Given the description of an element on the screen output the (x, y) to click on. 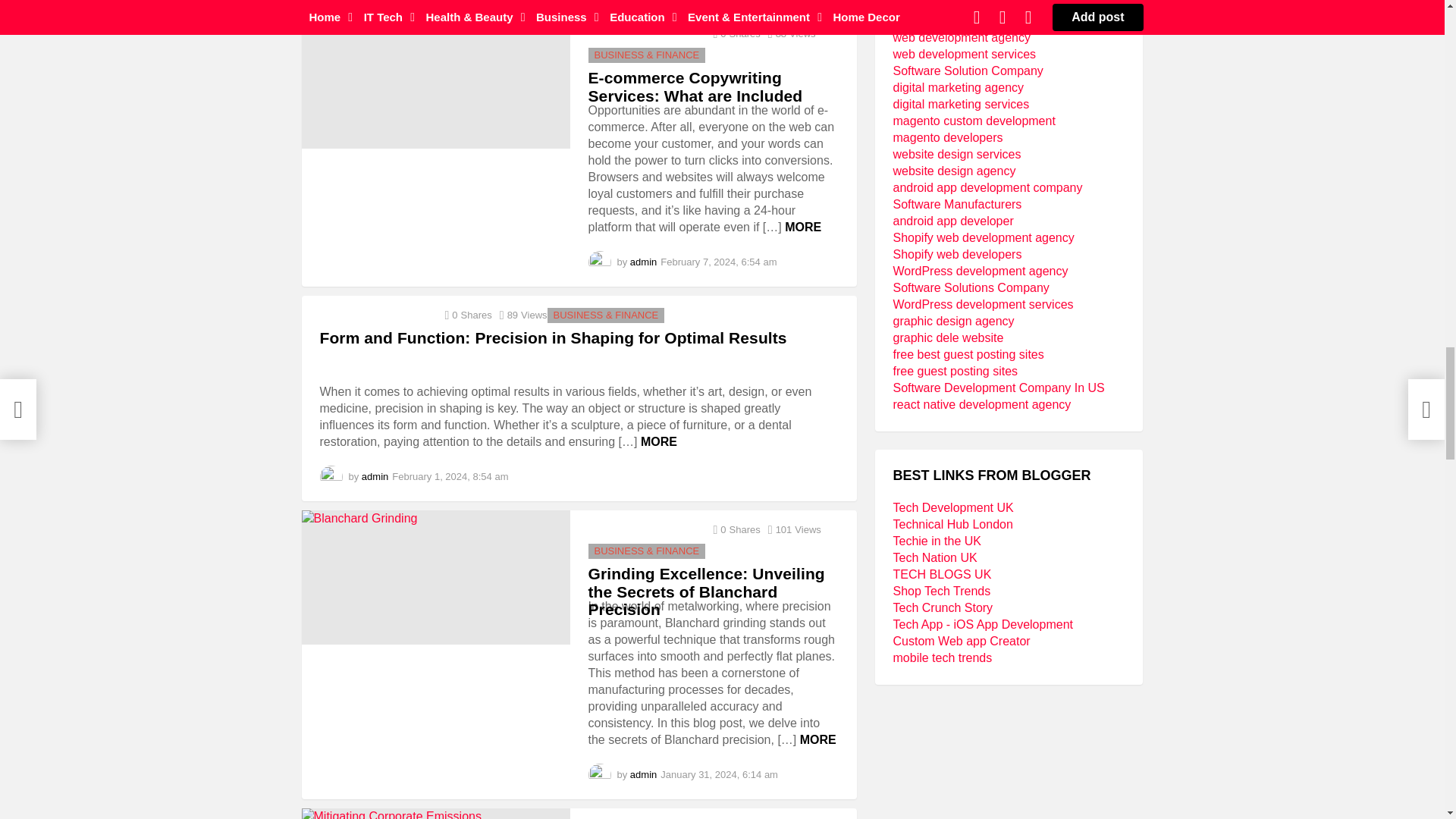
Posts by admin (643, 261)
E-commerce Copywriting Services: What are Included (435, 81)
